Given the description of an element on the screen output the (x, y) to click on. 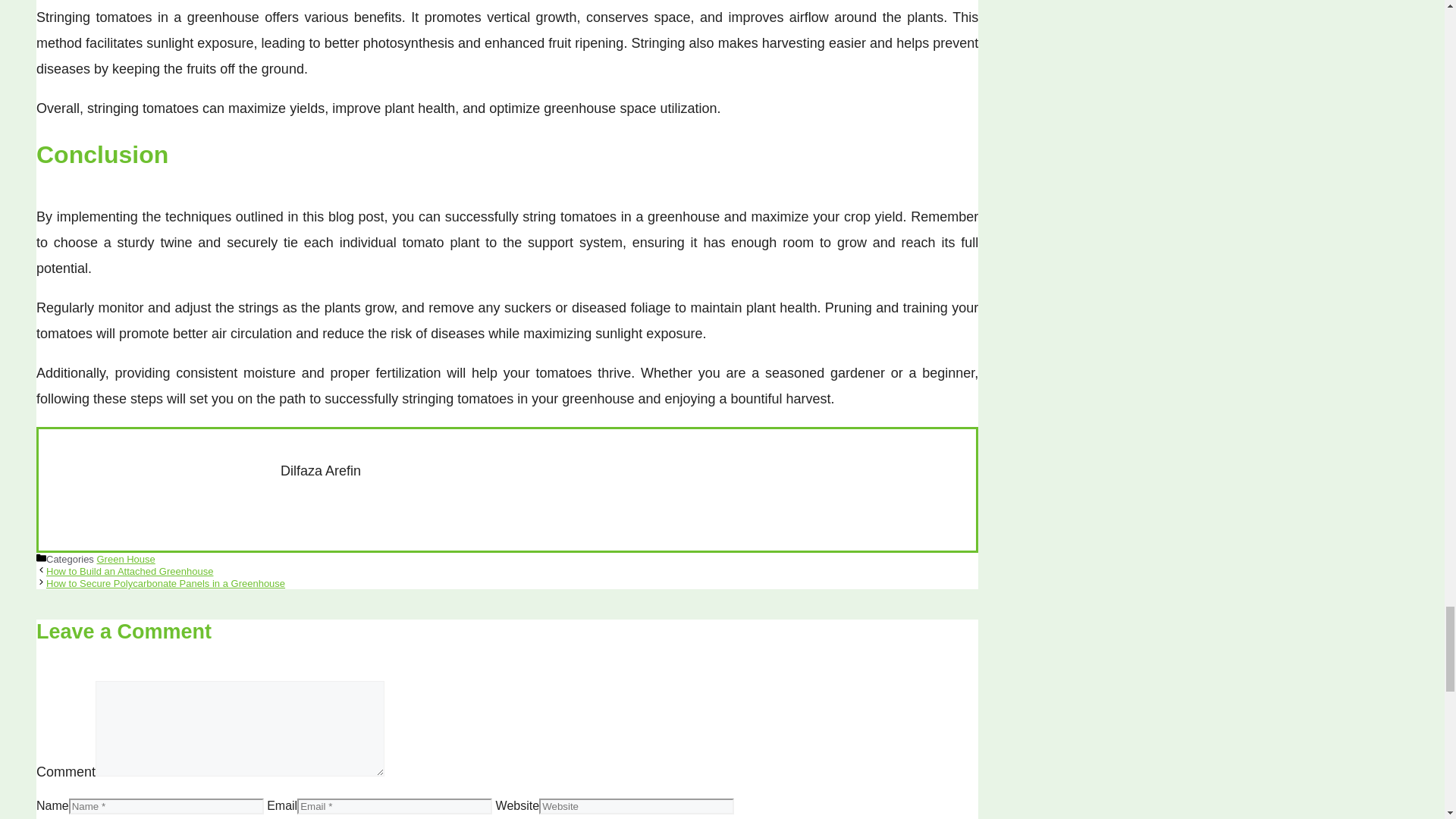
How to Secure Polycarbonate Panels in a Greenhouse (165, 583)
How to Build an Attached Greenhouse (129, 571)
Green House (125, 559)
